Given the description of an element on the screen output the (x, y) to click on. 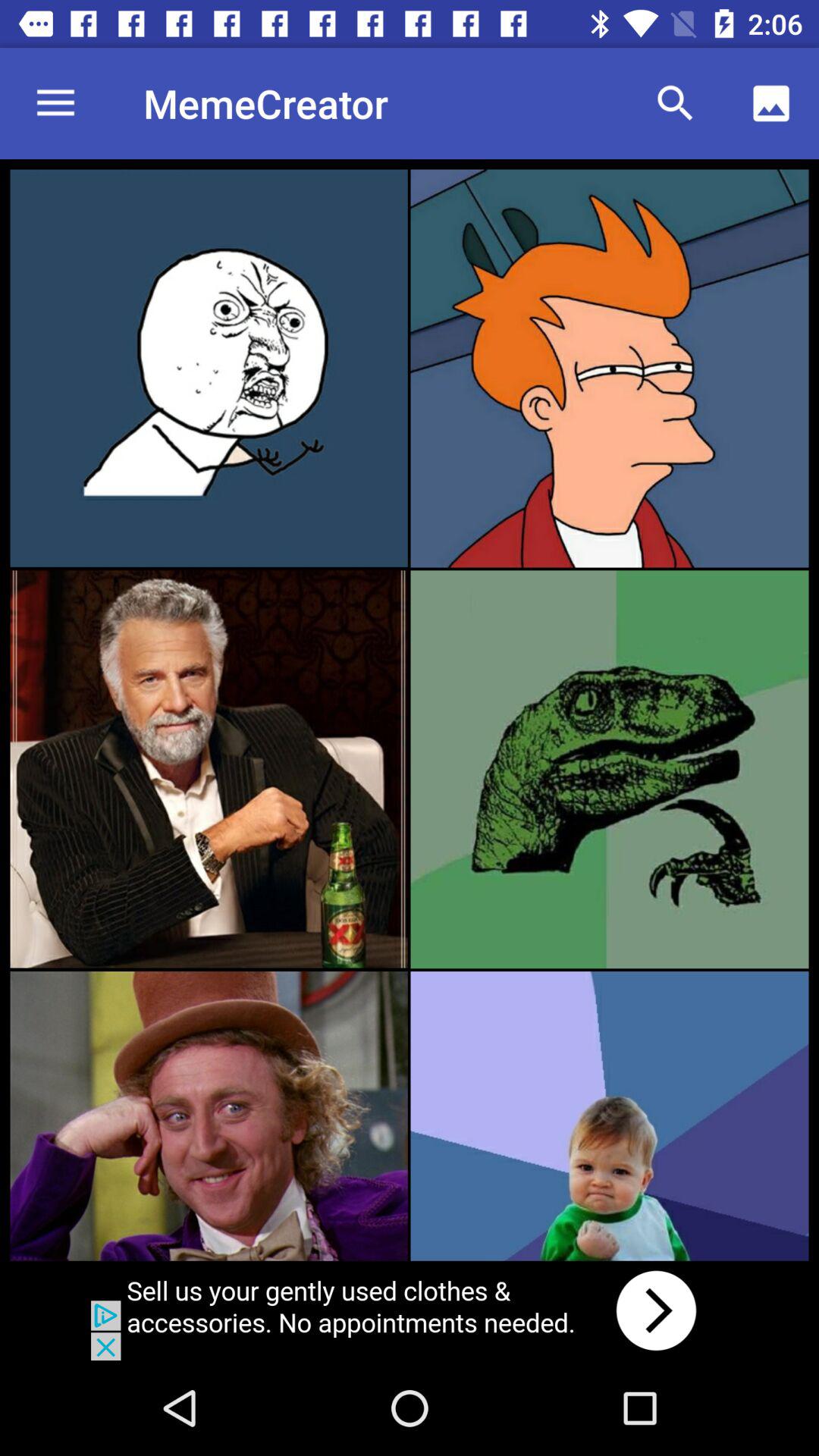
picture (208, 769)
